Given the description of an element on the screen output the (x, y) to click on. 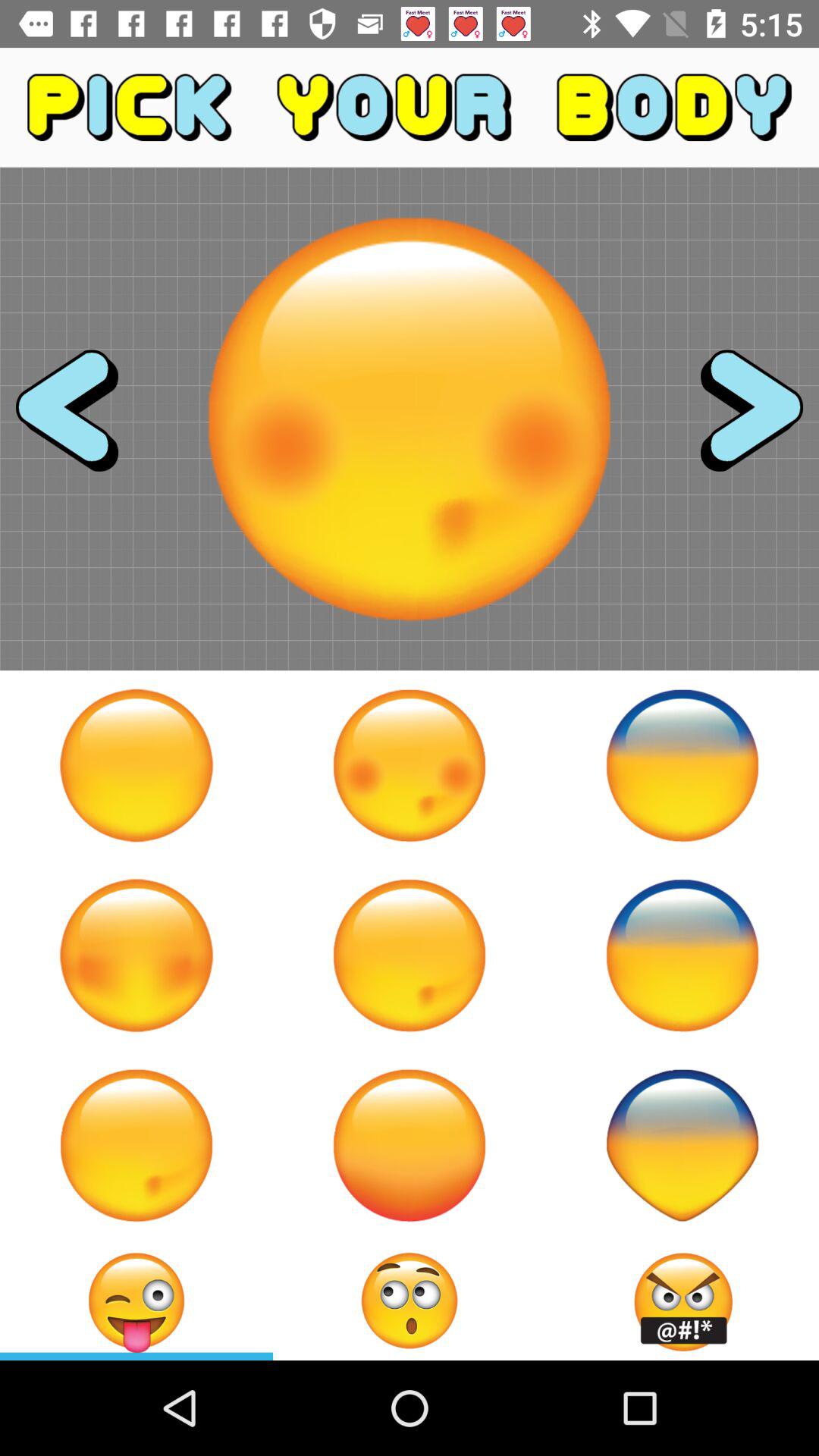
insert emoticon (136, 1300)
